Given the description of an element on the screen output the (x, y) to click on. 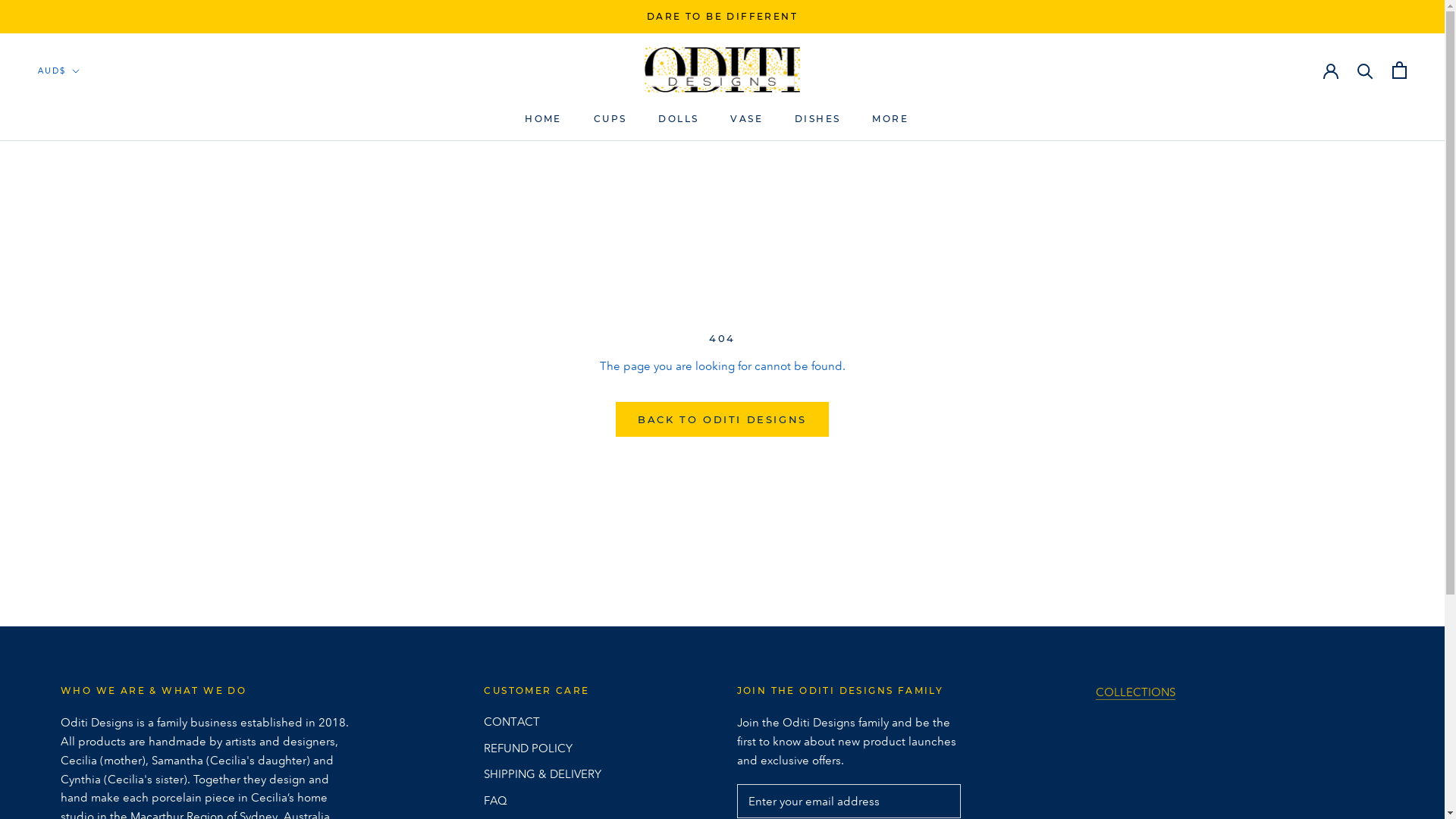
BACK TO ODITI DESIGNS Element type: text (721, 418)
CUPS
CUPS Element type: text (610, 118)
AUD Element type: text (77, 102)
NZD Element type: text (77, 142)
COLLECTIONS Element type: text (1135, 691)
DISHES
DISHES Element type: text (817, 118)
CONTACT Element type: text (542, 722)
DOLLS
DOLLS Element type: text (678, 118)
FAQ Element type: text (542, 800)
REFUND POLICY Element type: text (542, 748)
AUD$ Element type: text (58, 71)
USD Element type: text (77, 163)
GBP Element type: text (77, 122)
SHIPPING & DELIVERY Element type: text (542, 774)
HOME Element type: text (542, 118)
VASE
VASE Element type: text (746, 118)
